Given the description of an element on the screen output the (x, y) to click on. 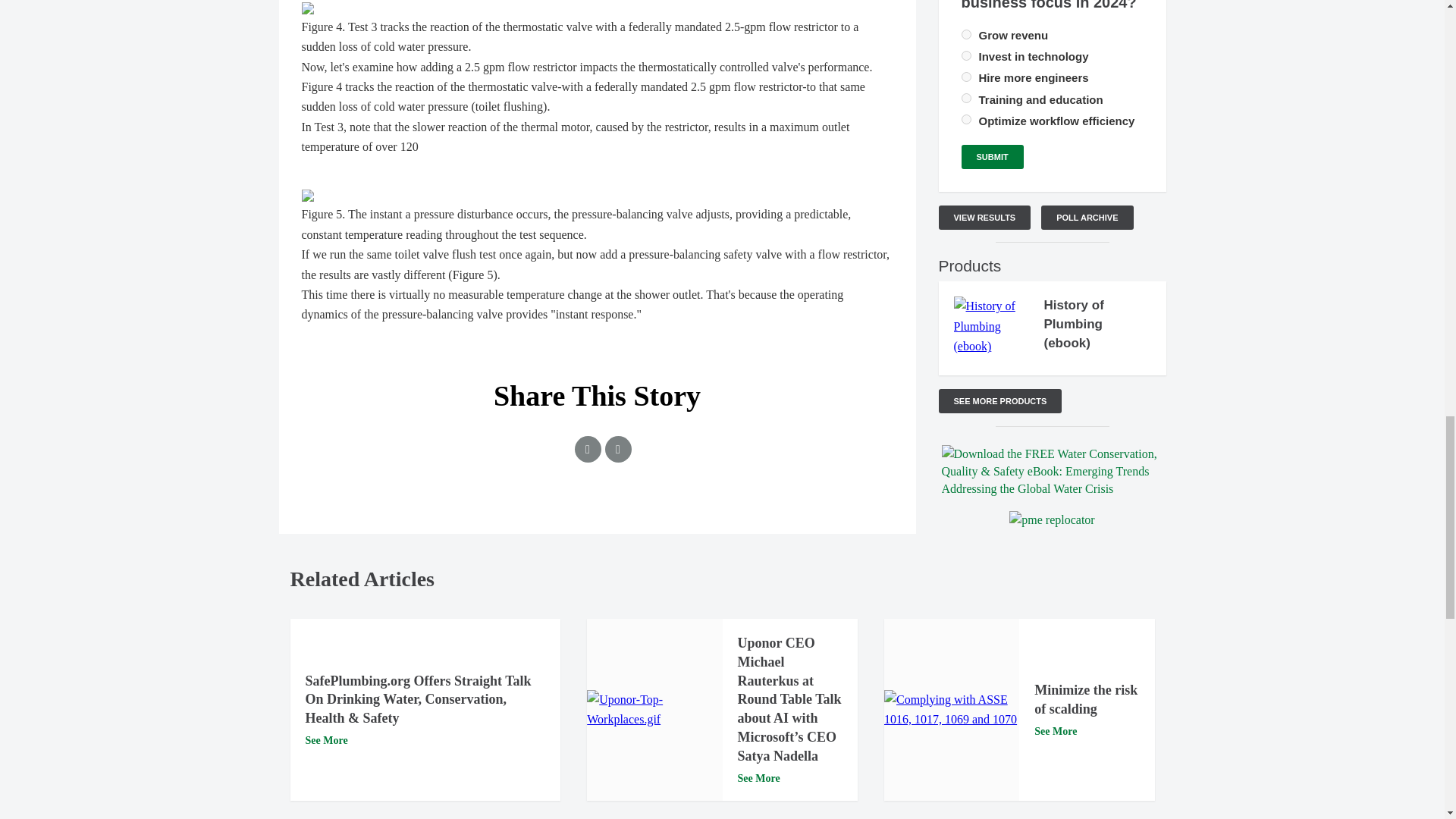
327 (965, 119)
328 (965, 98)
324 (965, 34)
326 (965, 76)
Uponor-Top-Workplaces.gif (654, 710)
Submit (991, 156)
325 (965, 55)
Complying with ASSE 1016, 1017, 1069 and 1070 (951, 710)
